Given the description of an element on the screen output the (x, y) to click on. 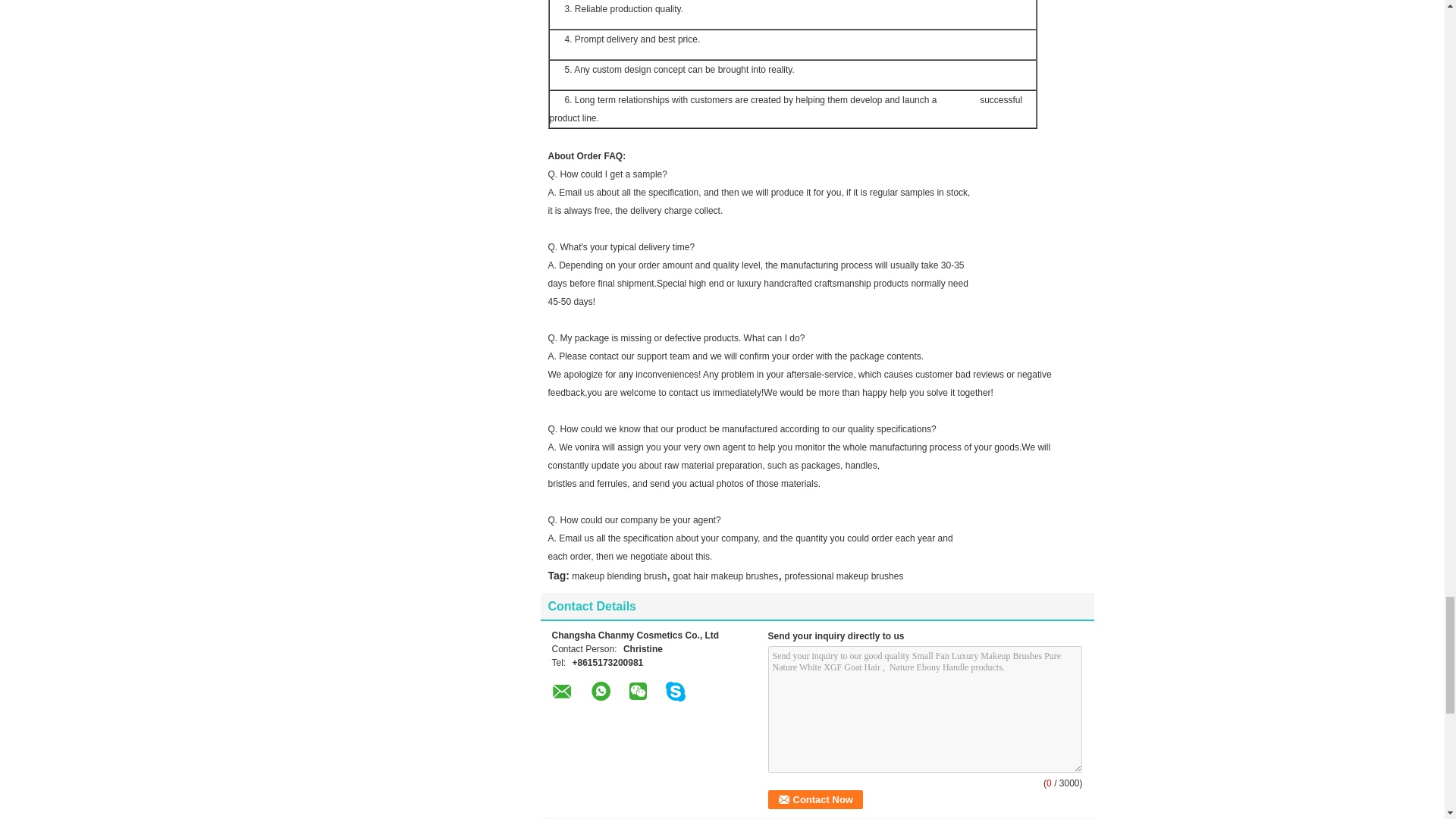
Contact Now (814, 799)
